Given the description of an element on the screen output the (x, y) to click on. 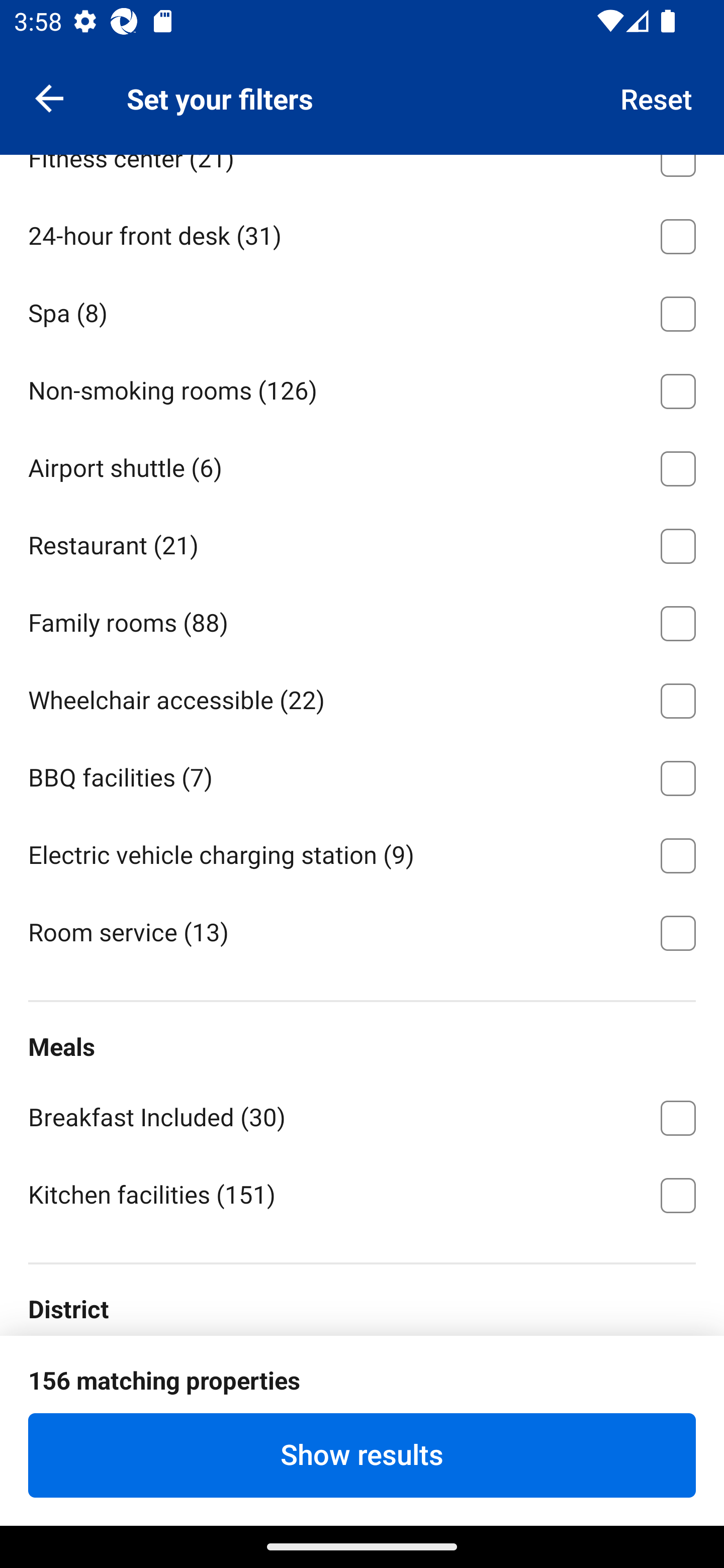
Parking ⁦(93) (361, 78)
Navigate up (49, 97)
Reset (656, 97)
Fitness center ⁦(21) (361, 174)
24-hour front desk ⁦(31) (361, 232)
Spa ⁦(8) (361, 310)
Non-smoking rooms ⁦(126) (361, 387)
Airport shuttle ⁦(6) (361, 464)
Restaurant ⁦(21) (361, 542)
Family rooms ⁦(88) (361, 619)
Wheelchair accessible ⁦(22) (361, 697)
BBQ facilities ⁦(7) (361, 774)
Electric vehicle charging station ⁦(9) (361, 851)
Room service ⁦(13) (361, 931)
Breakfast Included ⁦(30) (361, 1114)
Kitchen facilities ⁦(151) (361, 1194)
Berlin City Center ⁦(42) (361, 1377)
Show results (361, 1454)
